Given the description of an element on the screen output the (x, y) to click on. 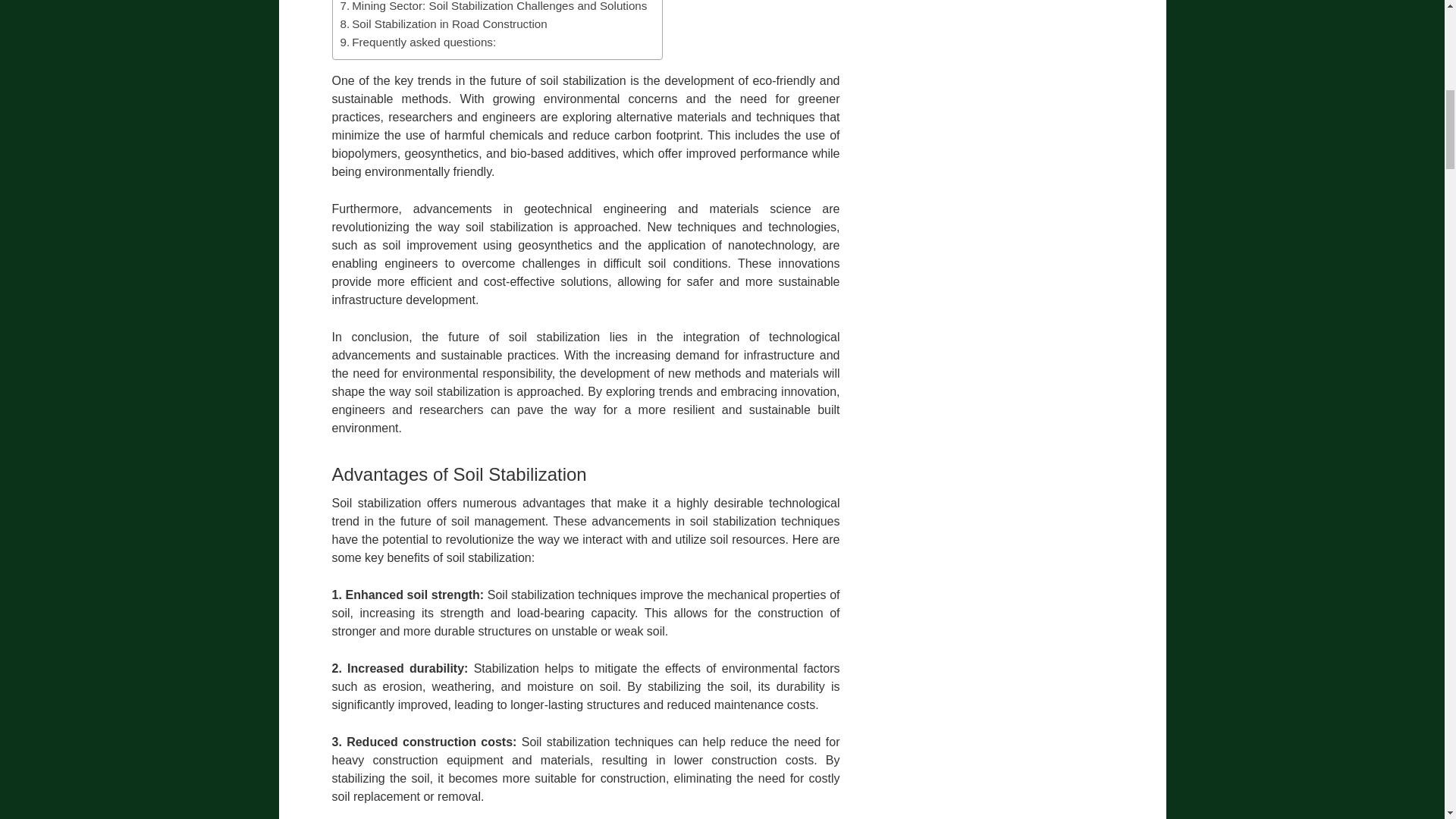
Frequently asked questions: (417, 42)
Mining Sector: Soil Stabilization Challenges and Solutions (492, 7)
Soil Stabilization in Road Construction (443, 24)
Frequently asked questions: (417, 42)
Mining Sector: Soil Stabilization Challenges and Solutions (492, 7)
Soil Stabilization in Road Construction (443, 24)
